Given the description of an element on the screen output the (x, y) to click on. 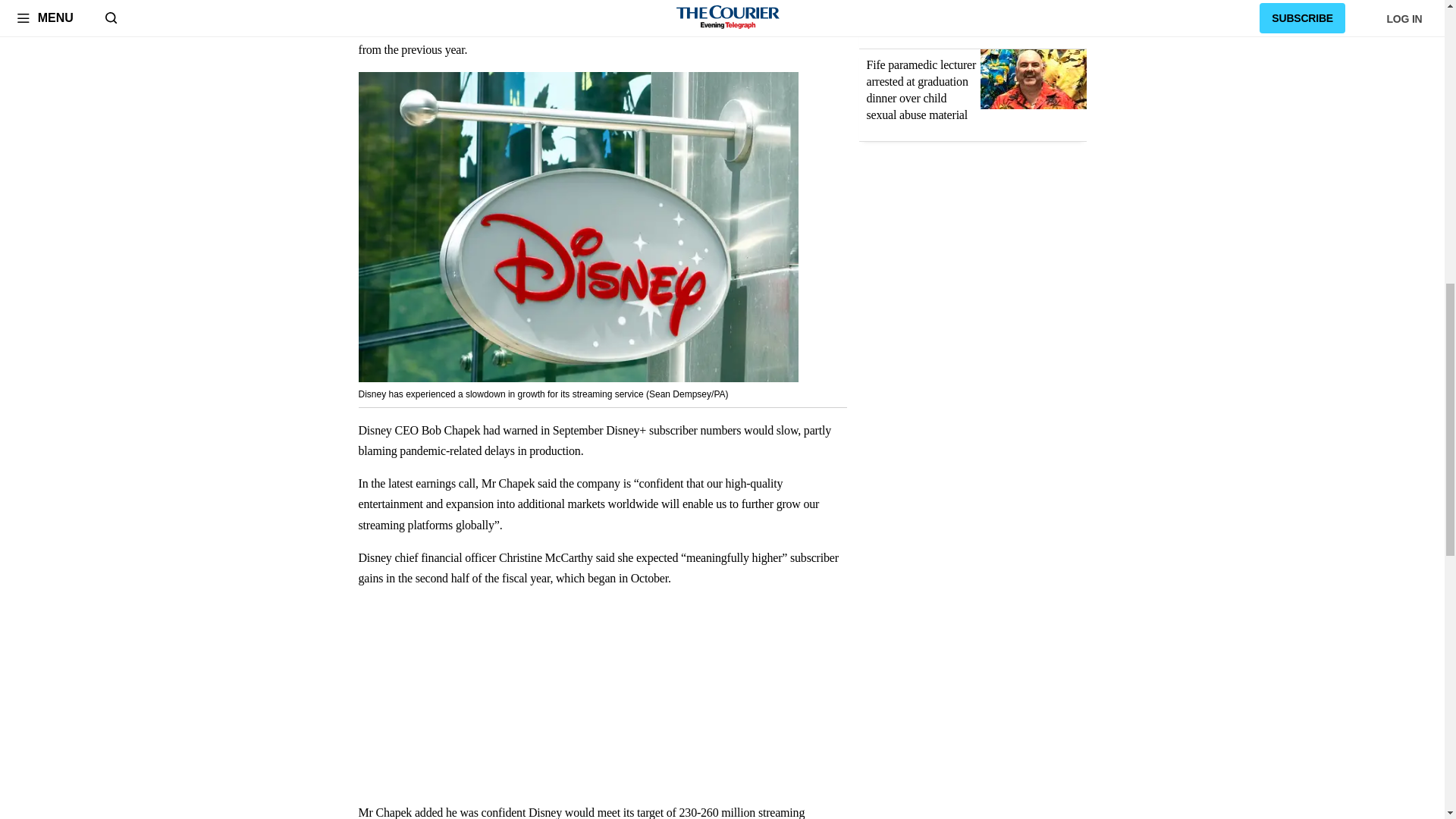
VIDEO: Perth family flee home after car torched in driveway (917, 7)
VIDEO: Perth family flee home after car torched in driveway (1032, 13)
2 (876, 26)
